Given the description of an element on the screen output the (x, y) to click on. 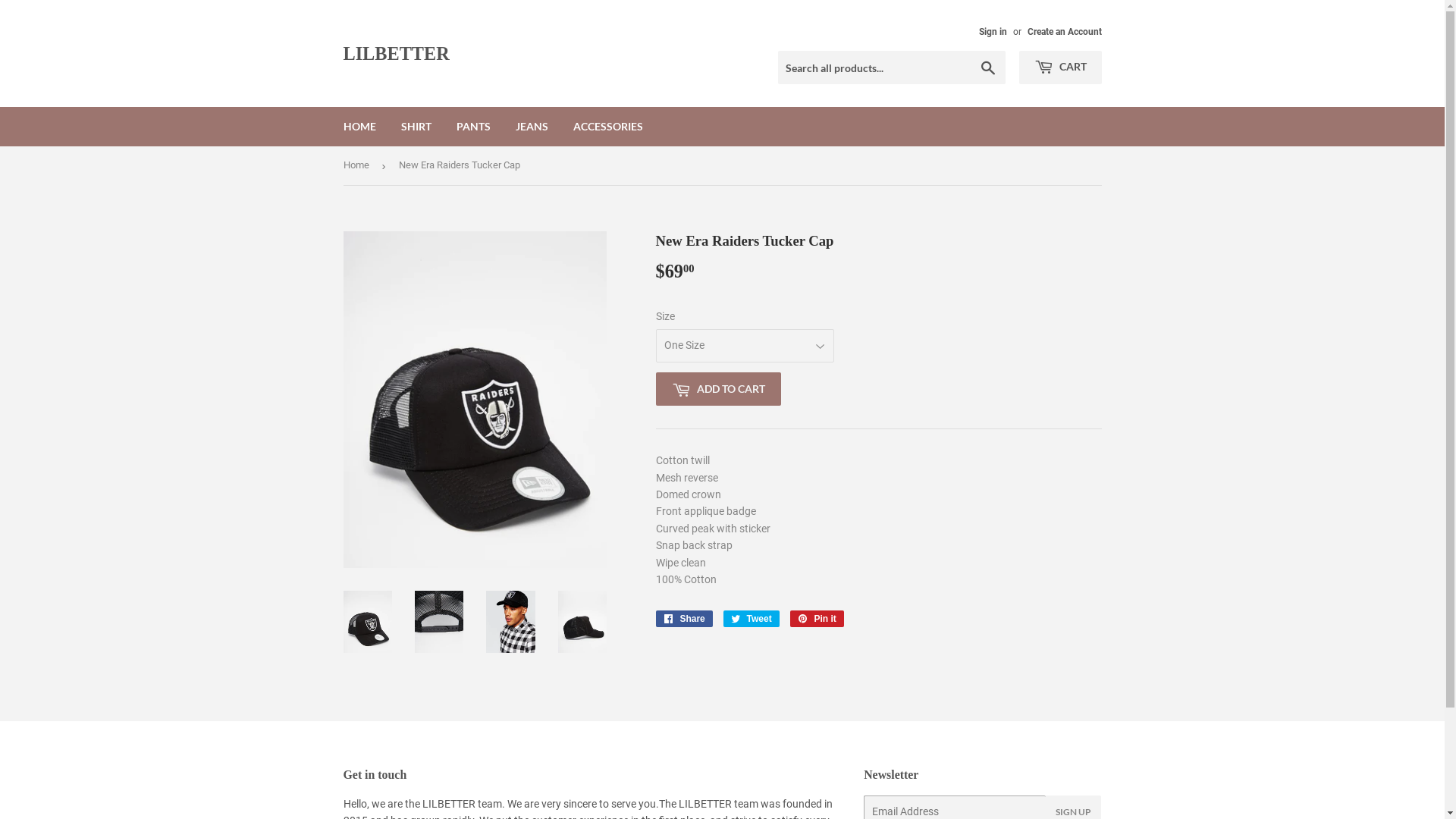
JEANS Element type: text (530, 126)
Sign in Element type: text (992, 31)
Pin it
Pin on Pinterest Element type: text (817, 618)
Share
Share on Facebook Element type: text (683, 618)
CART Element type: text (1060, 67)
Search Element type: text (987, 68)
PANTS Element type: text (472, 126)
Tweet
Tweet on Twitter Element type: text (751, 618)
ADD TO CART Element type: text (717, 388)
Home Element type: text (357, 165)
LILBETTER Element type: text (531, 53)
Create an Account Element type: text (1063, 31)
SHIRT Element type: text (415, 126)
ACCESSORIES Element type: text (607, 126)
HOME Element type: text (359, 126)
